Given the description of an element on the screen output the (x, y) to click on. 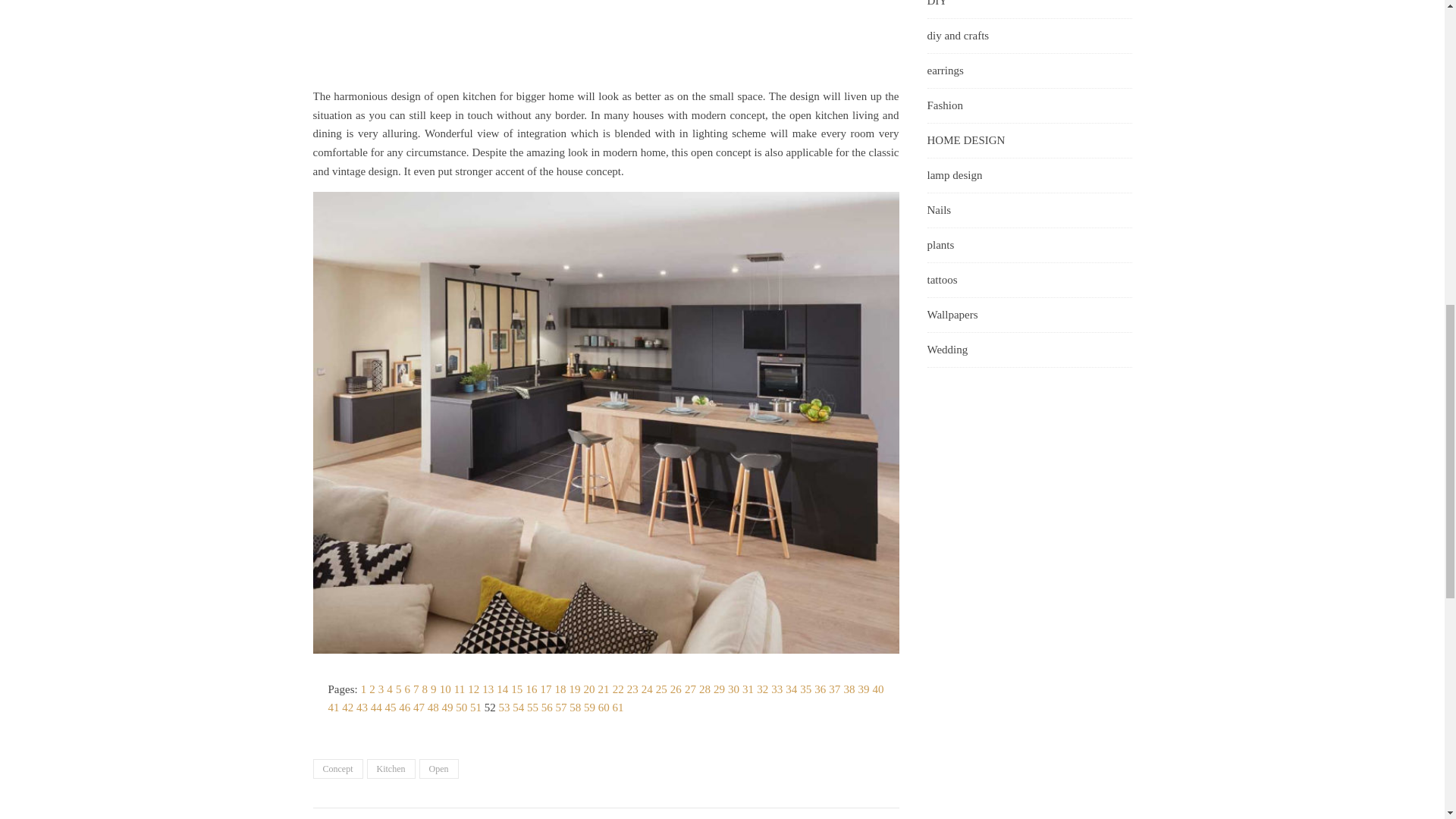
18 (560, 689)
10 (445, 689)
16 (531, 689)
4 (390, 689)
2 (372, 689)
11 (459, 689)
6 (407, 689)
15 (516, 689)
14 (502, 689)
13 (487, 689)
9 (433, 689)
7 (416, 689)
12 (473, 689)
17 (545, 689)
8 (425, 689)
